Given the description of an element on the screen output the (x, y) to click on. 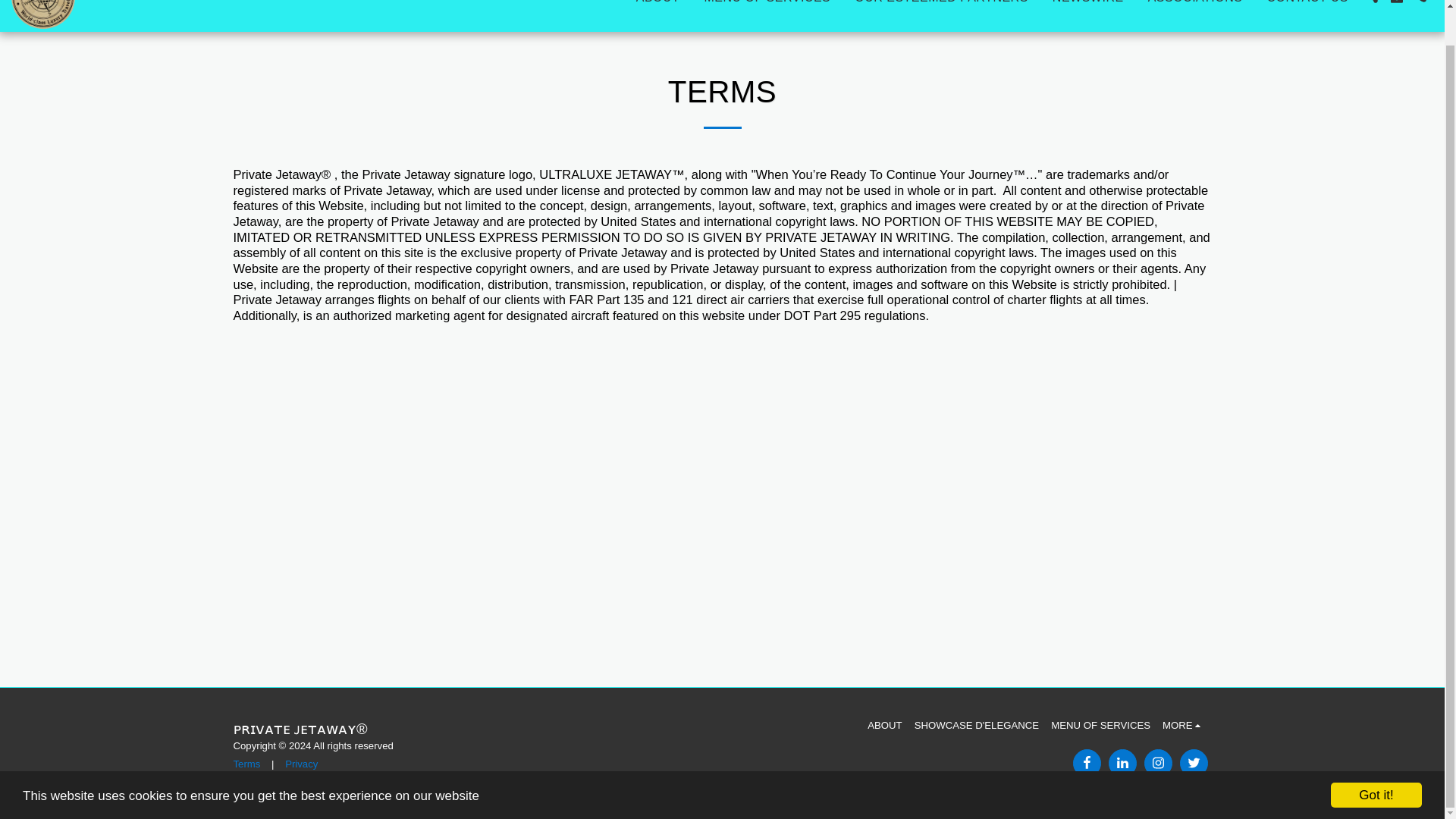
Terms (246, 763)
MENU OF SERVICES (1100, 725)
ASSOCIATIONS (1195, 4)
NEWSWIRE (1088, 4)
ABOUT (657, 4)
MORE   (1183, 725)
ABOUT (884, 725)
CONTACT US (1307, 4)
MENU OF SERVICES (767, 4)
SHOWCASE D'ELEGANCE (976, 725)
